Given the description of an element on the screen output the (x, y) to click on. 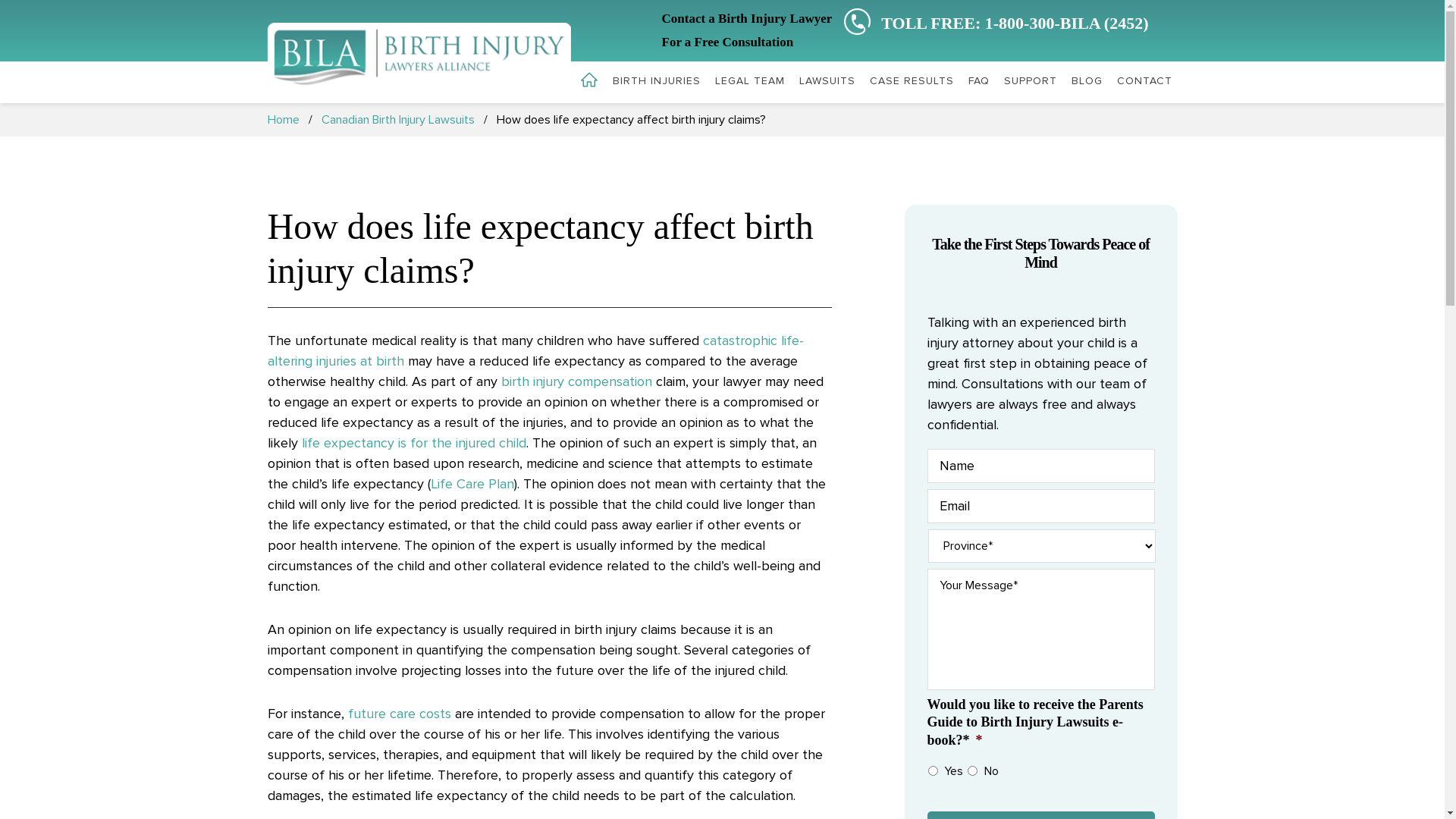
future care costs Element type: text (398, 713)
CASE RESULTS Element type: text (911, 81)
1-800-300-BILA (2452) Element type: text (1066, 22)
HOME Element type: text (588, 80)
LEGAL TEAM Element type: text (749, 81)
Life Care Plan Element type: text (472, 483)
LAWSUITS Element type: text (826, 81)
birth injury compensation Element type: text (575, 381)
SUPPORT Element type: text (1029, 81)
Canadian Birth Injury Lawsuits Element type: text (397, 119)
Home Element type: text (282, 119)
catastrophic life-altering injuries at birth Element type: text (534, 350)
life expectancy is for the injured child Element type: text (413, 442)
CONTACT Element type: text (1144, 81)
FAQ Element type: text (978, 81)
BIRTH INJURY LAWYERS ALLIANCE Element type: text (418, 60)
BLOG Element type: text (1086, 81)
BIRTH INJURIES Element type: text (655, 81)
Skip to main content Element type: text (0, 0)
